Given the description of an element on the screen output the (x, y) to click on. 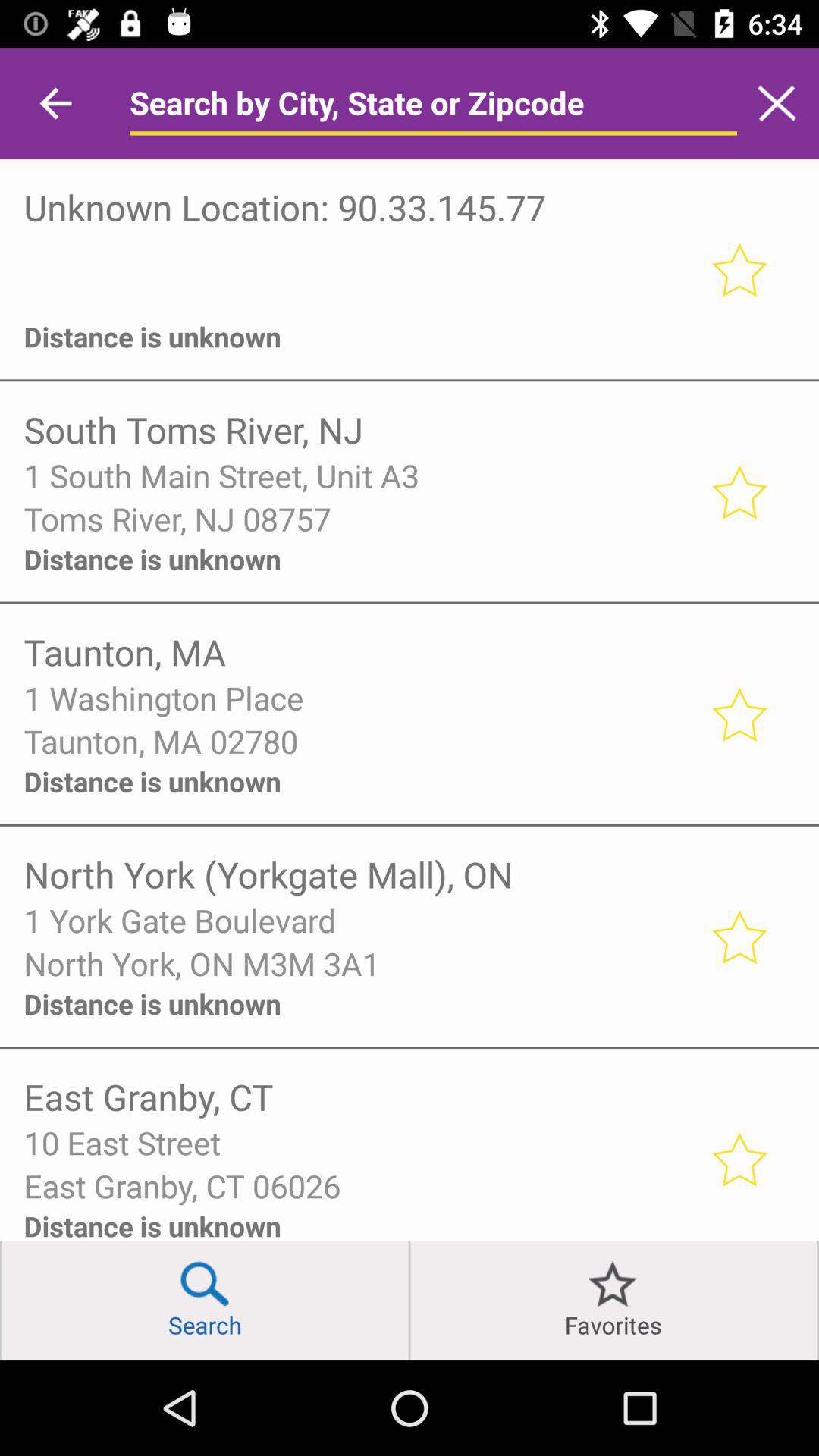
click item above toms river nj (356, 475)
